Given the description of an element on the screen output the (x, y) to click on. 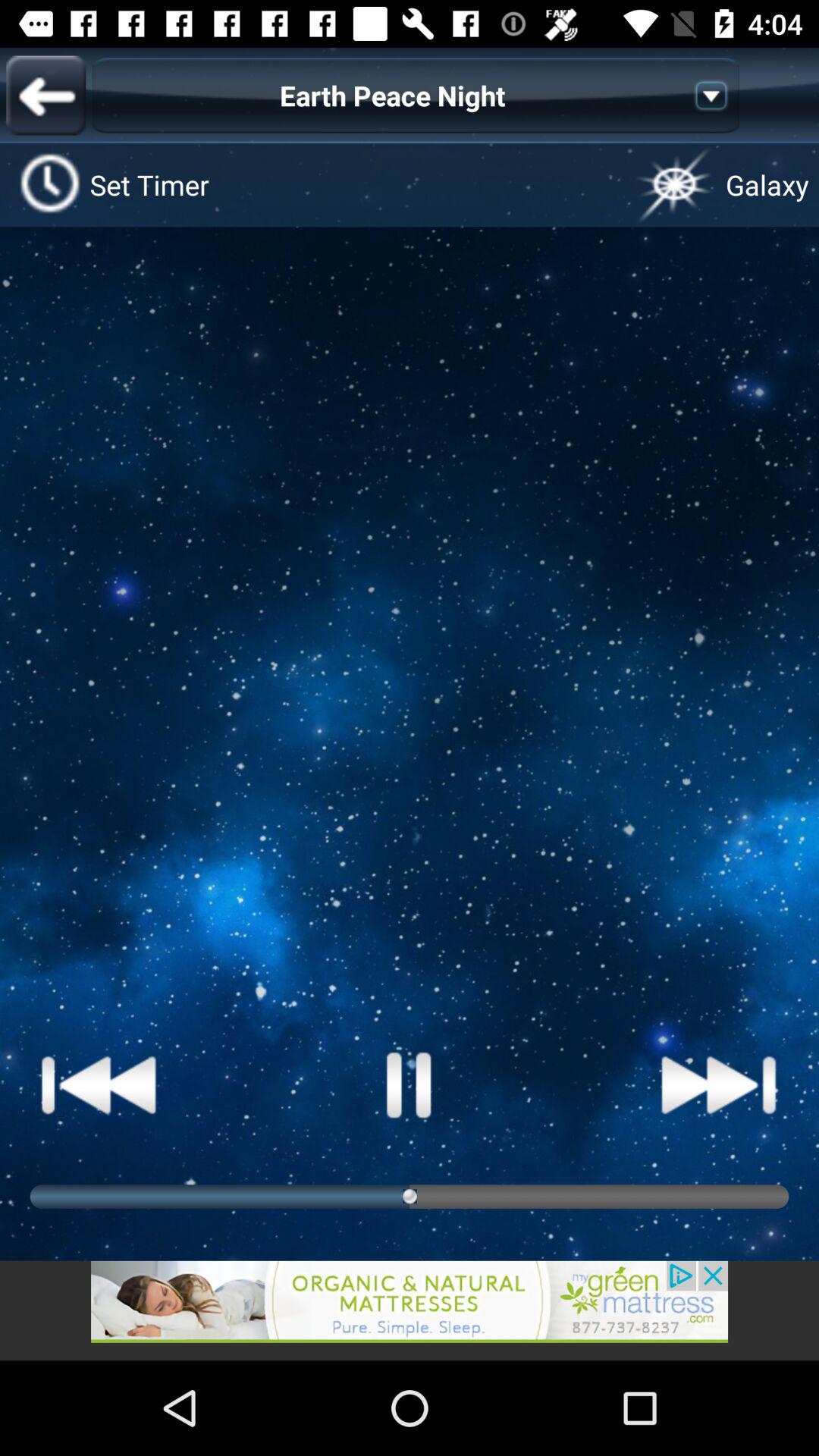
previous button (45, 95)
